Given the description of an element on the screen output the (x, y) to click on. 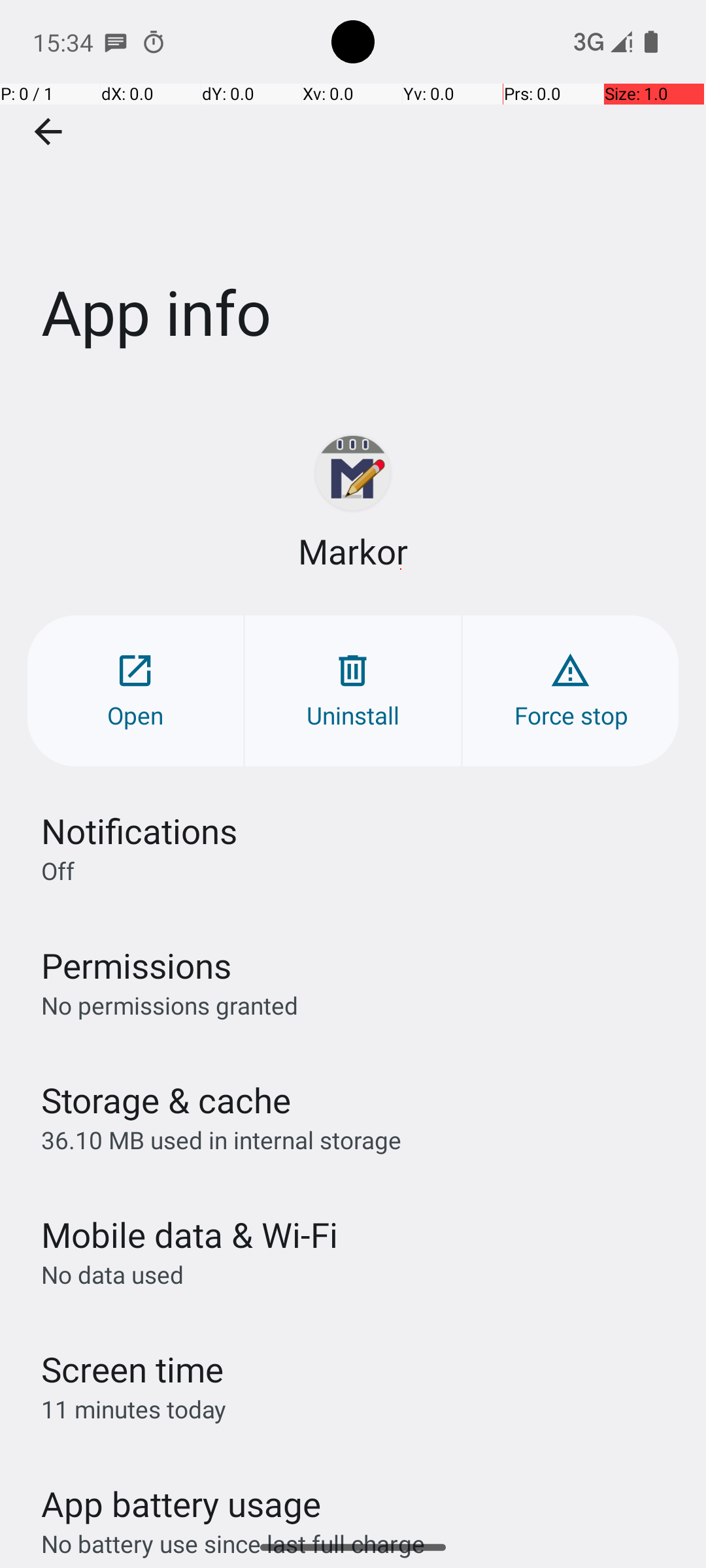
No permissions granted Element type: android.widget.TextView (169, 1004)
36.10 MB used in internal storage Element type: android.widget.TextView (221, 1139)
11 minutes today Element type: android.widget.TextView (133, 1408)
